Given the description of an element on the screen output the (x, y) to click on. 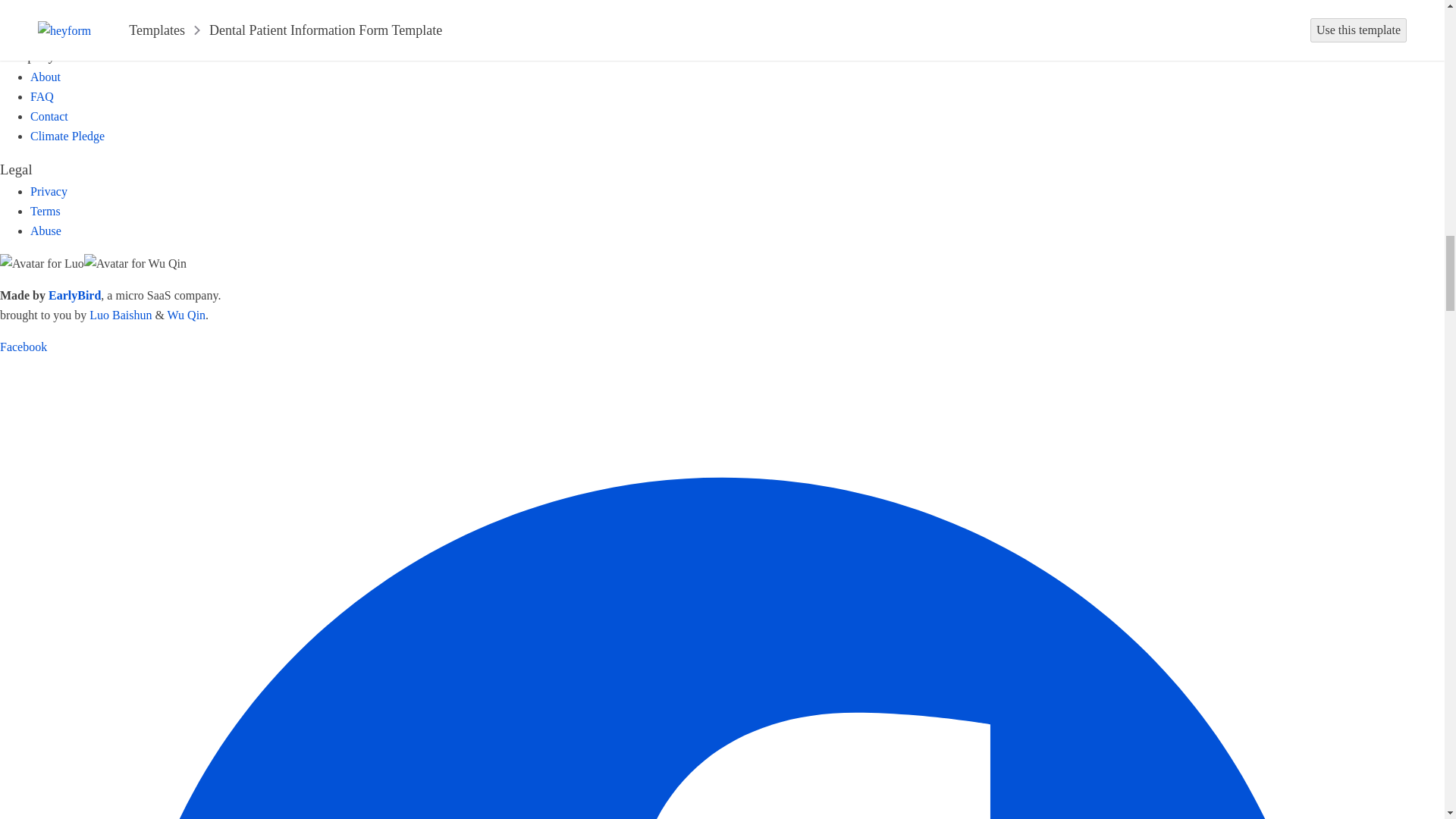
Terms (45, 210)
Abuse (45, 230)
Climate Pledge (67, 135)
FAQ (41, 96)
Luo Baishun (119, 314)
Wu Qin (186, 314)
EarlyBird (74, 295)
Changelog (56, 21)
Privacy (48, 191)
Contact (49, 115)
Blog (41, 4)
About (45, 76)
